Given the description of an element on the screen output the (x, y) to click on. 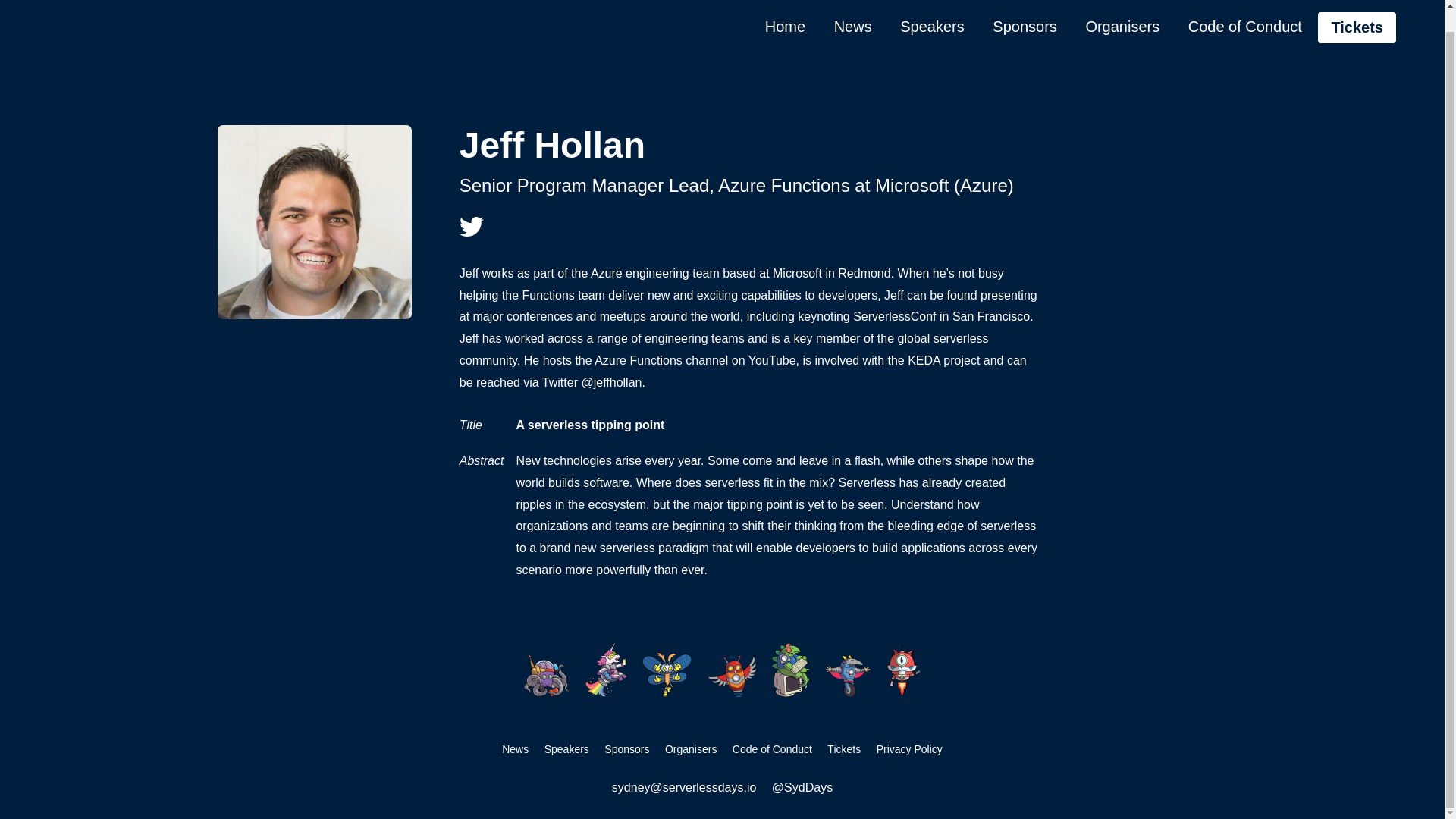
Home (784, 10)
Speakers (566, 749)
Organisers (1122, 10)
Tickets (1356, 11)
News (852, 10)
Organisers (690, 749)
Sponsors (1023, 10)
Code of Conduct (772, 749)
Tickets (843, 749)
Privacy Policy (909, 749)
News (515, 749)
Sponsors (626, 749)
Speakers (932, 10)
Code of Conduct (1245, 10)
